Given the description of an element on the screen output the (x, y) to click on. 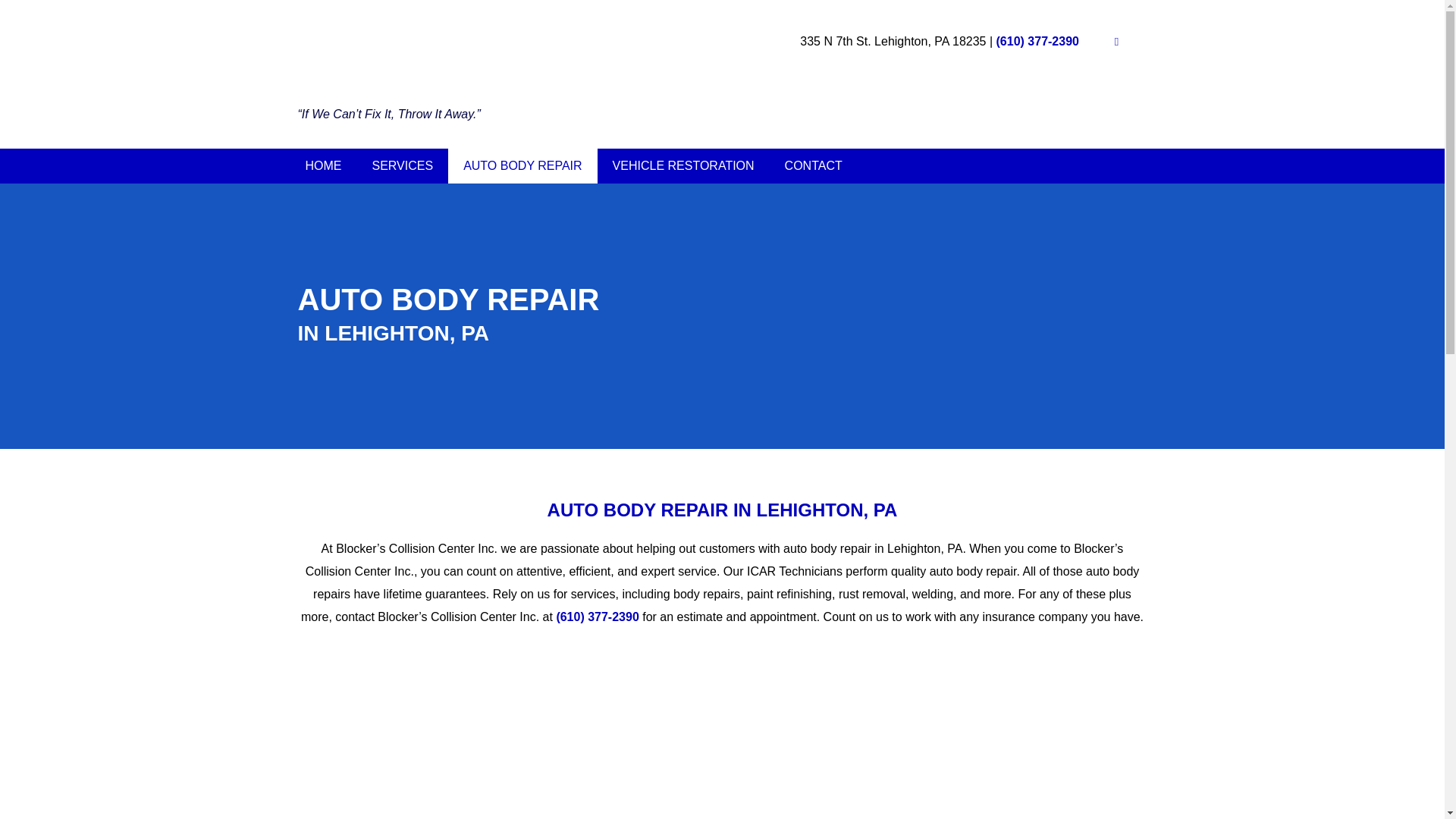
CONTACT (813, 165)
SERVICES (402, 165)
VEHICLE RESTORATION (683, 165)
AUTO BODY REPAIR (522, 165)
HOME (322, 165)
